Given the description of an element on the screen output the (x, y) to click on. 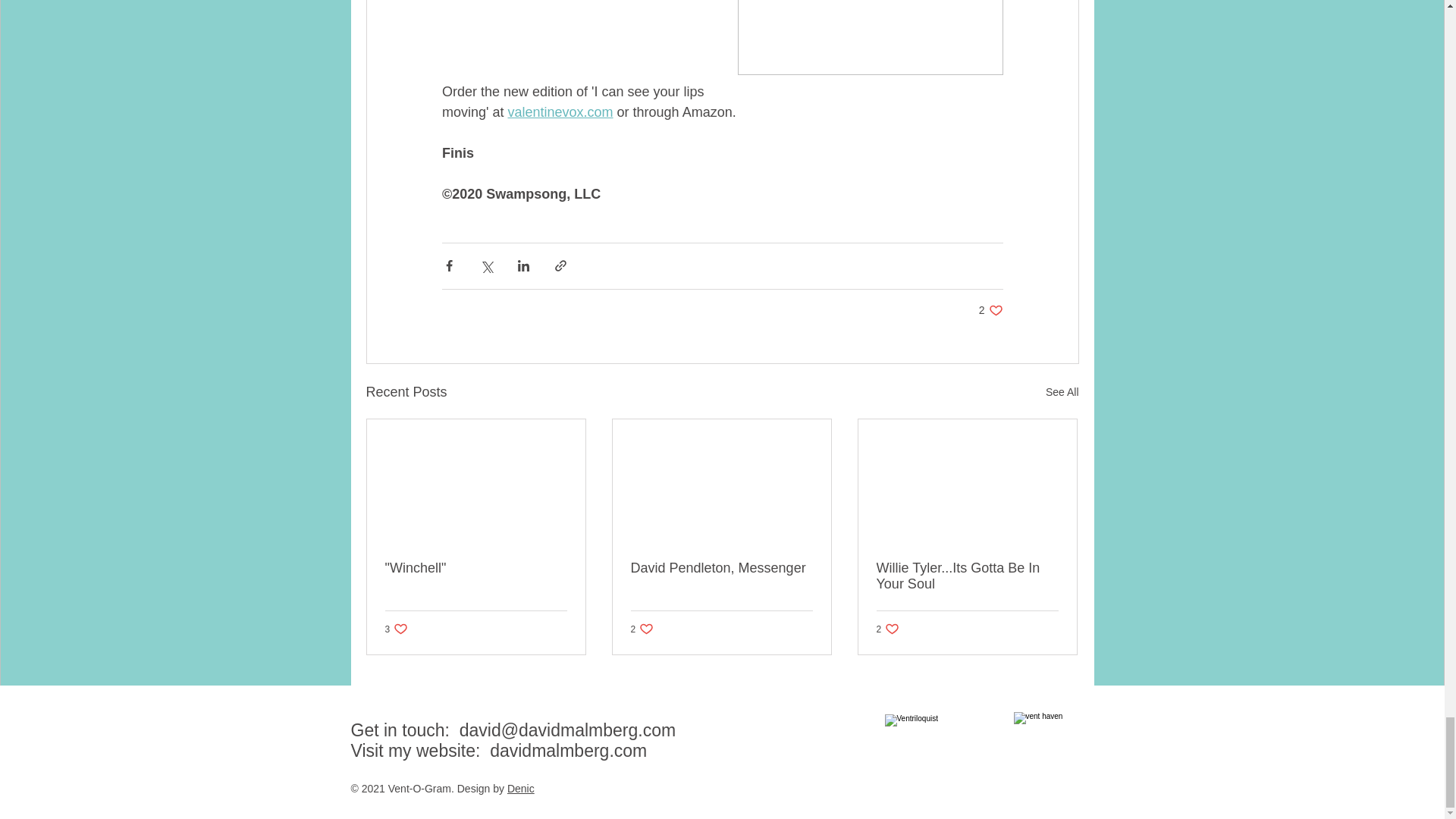
See All (397, 628)
Willie Tyler...Its Gotta Be In Your Soul (1061, 392)
David Pendleton, Messenger (967, 576)
valentinevox.com (721, 568)
davidmalmberg.com (990, 310)
"Winchell" (559, 111)
Denic (567, 750)
